Given the description of an element on the screen output the (x, y) to click on. 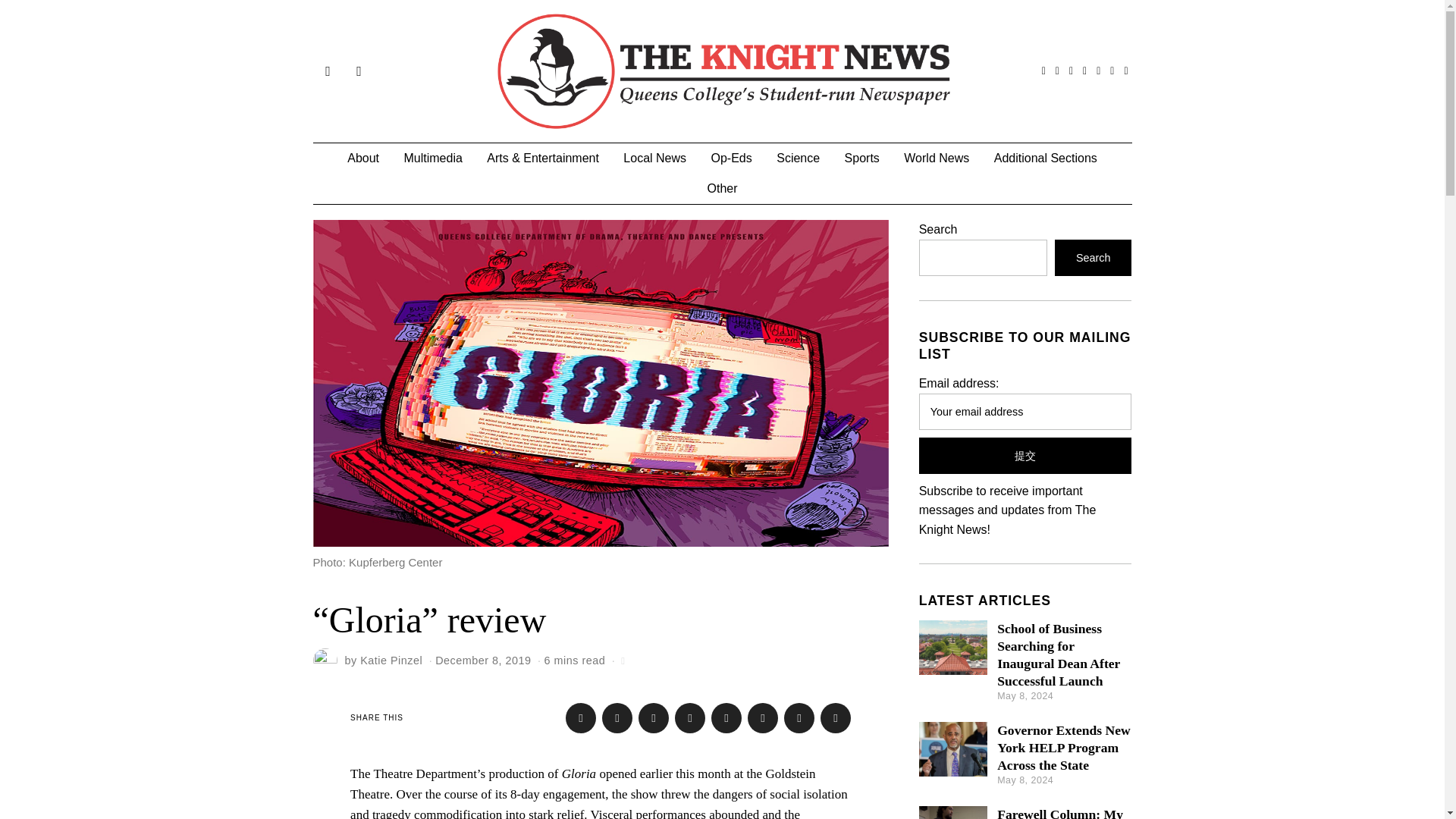
About (363, 158)
Science (797, 158)
Local News (654, 158)
Sports (861, 158)
Op-Eds (731, 158)
World News (936, 158)
Additional Sections (1046, 158)
Multimedia (432, 158)
